Given the description of an element on the screen output the (x, y) to click on. 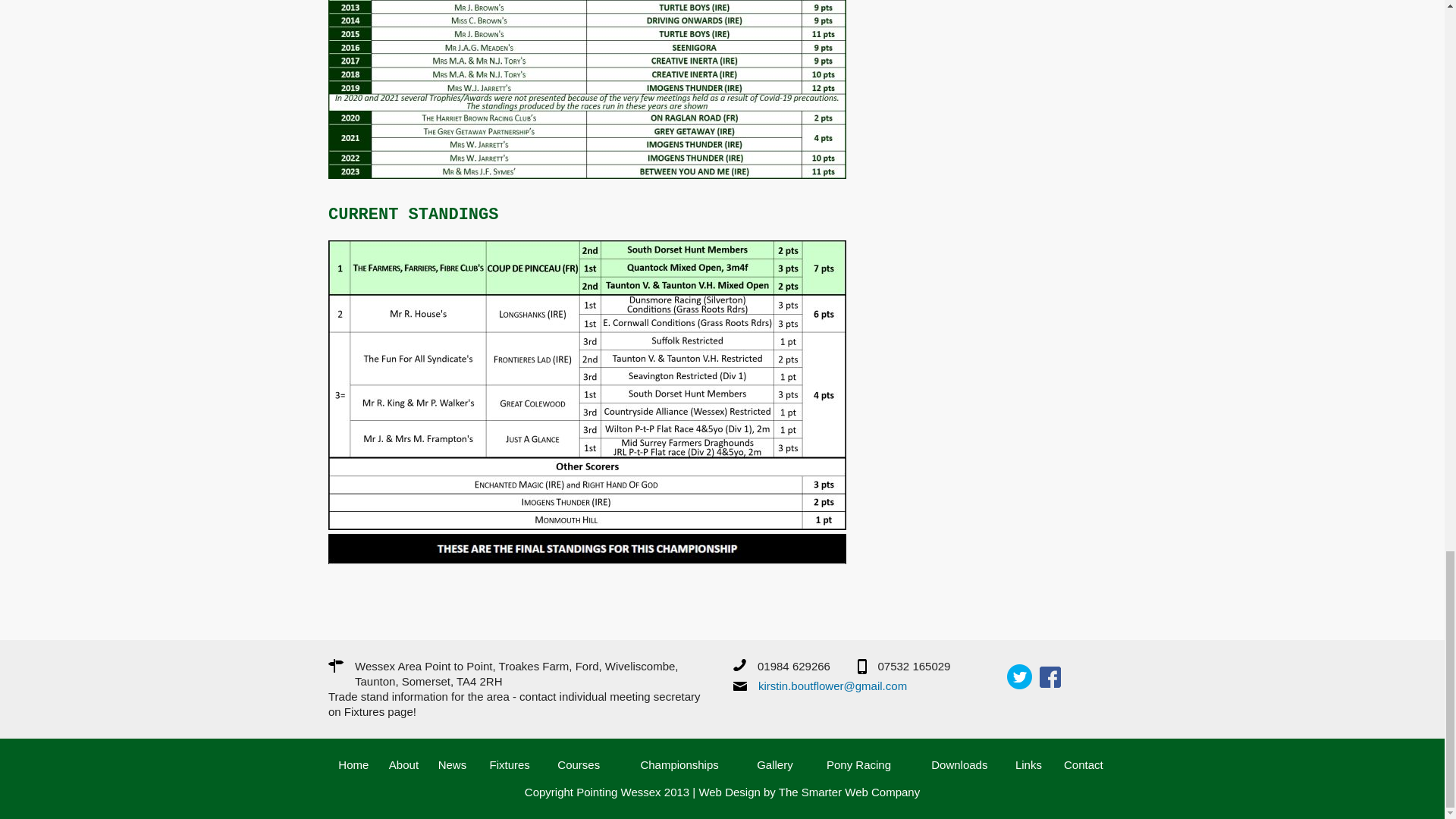
Contact (1083, 764)
Home (352, 764)
News (452, 764)
Courses (578, 764)
Gallery (775, 764)
Links (1028, 764)
About (403, 764)
Downloads (959, 764)
Championships (678, 764)
Fixtures (509, 764)
Pony Racing (859, 764)
